Given the description of an element on the screen output the (x, y) to click on. 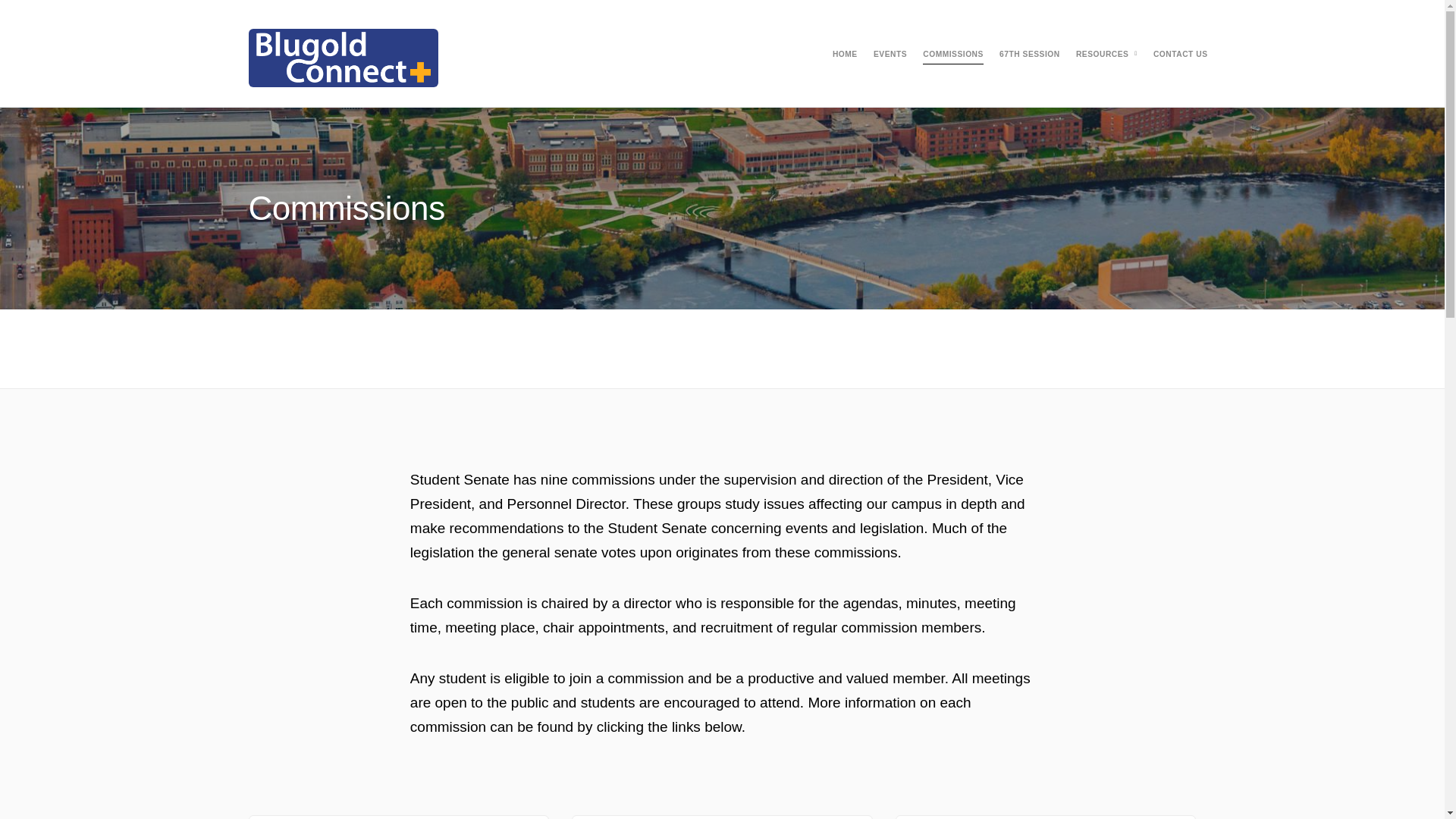
COMMISSIONS (953, 54)
HOME (844, 54)
67TH SESSION (1028, 54)
EVENTS (890, 54)
RESOURCES (1102, 54)
CONTACT US (1180, 54)
